Given the description of an element on the screen output the (x, y) to click on. 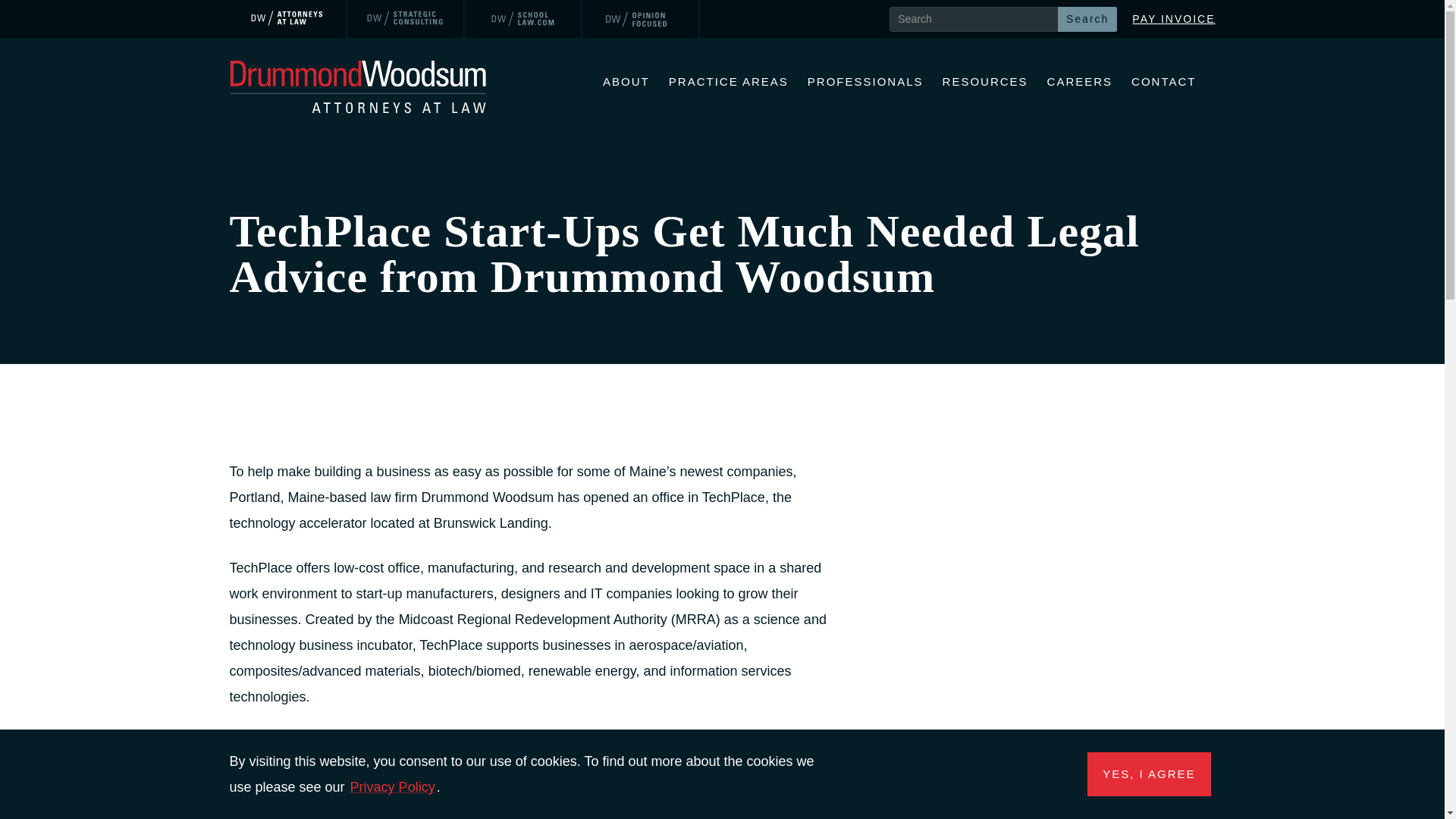
CONTACT (1163, 82)
YES, I AGREE (1148, 773)
RESOURCES (984, 82)
PROFESSIONALS (865, 82)
Privacy Policy (392, 787)
PRACTICE AREAS (728, 82)
Search (1087, 18)
CAREERS (1079, 82)
ABOUT (625, 82)
Search (1087, 18)
